Given the description of an element on the screen output the (x, y) to click on. 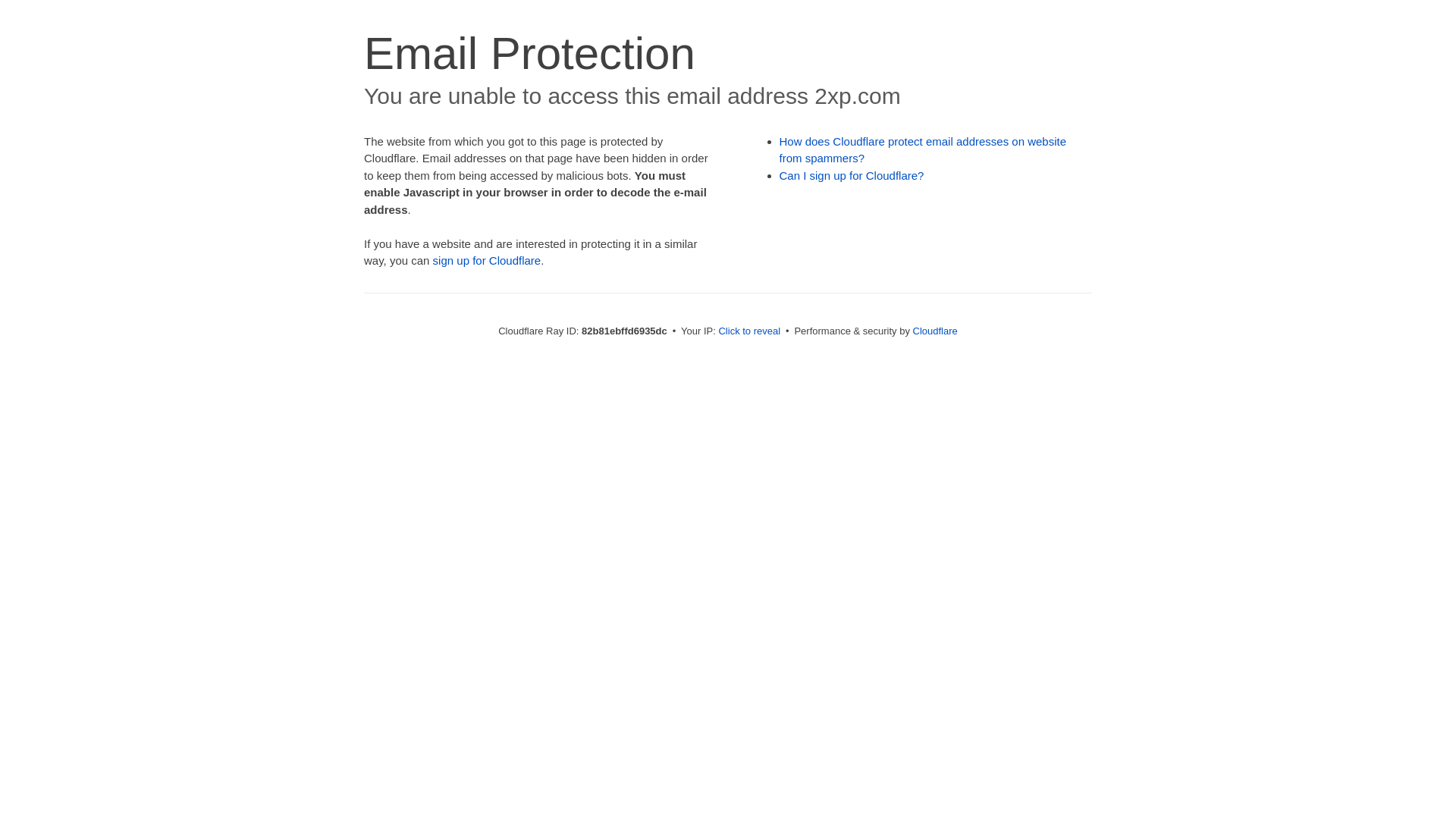
Can I sign up for Cloudflare? Element type: text (851, 175)
Click to reveal Element type: text (749, 330)
Cloudflare Element type: text (935, 330)
sign up for Cloudflare Element type: text (487, 260)
